Given the description of an element on the screen output the (x, y) to click on. 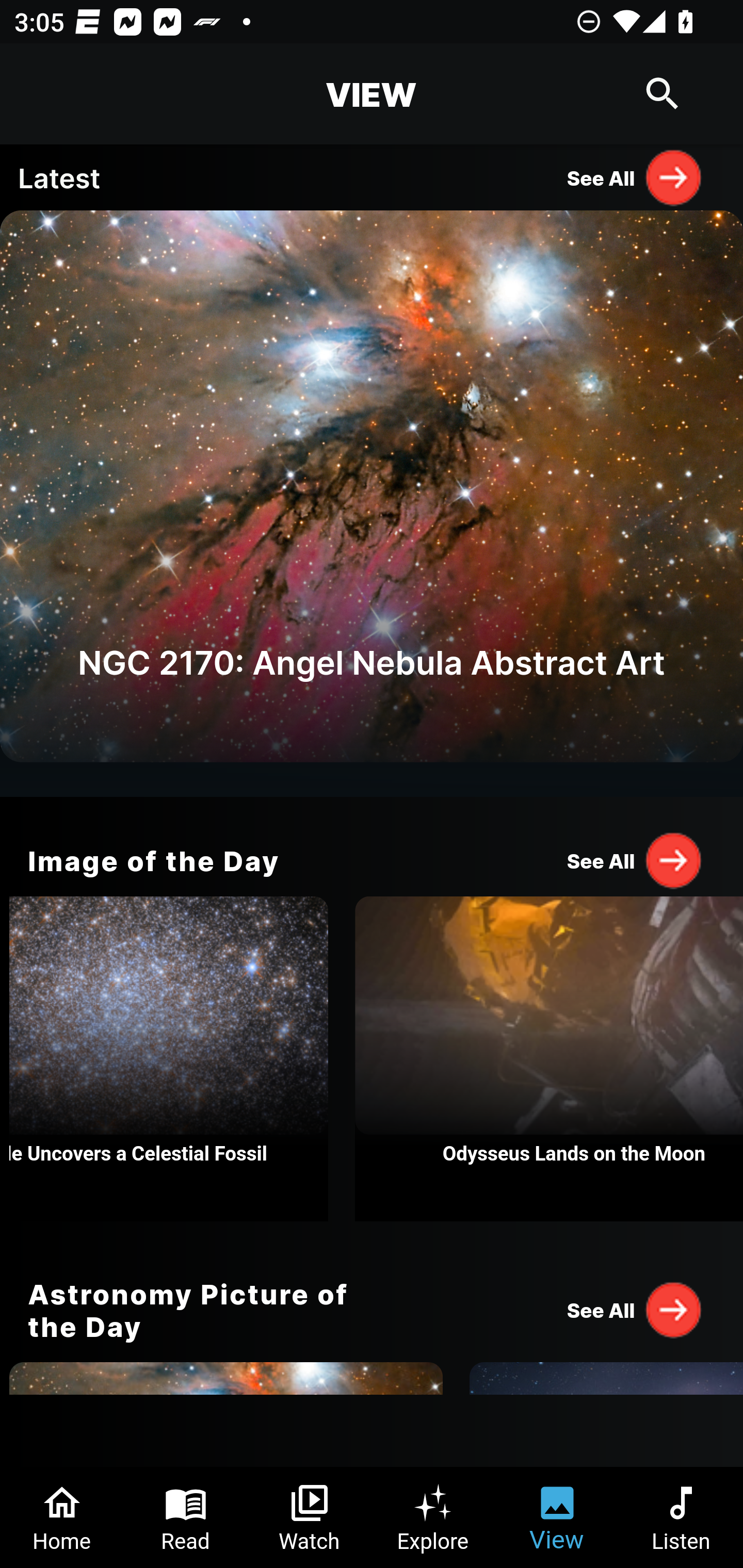
See All (634, 177)
NGC 2170: Angel Nebula Abstract Art
Hello World (371, 503)
See All (634, 860)
Hubble Uncovers a Celestial Fossil (168, 1058)
Odysseus Lands on the Moon (549, 1058)
See All (634, 1309)
Home
Tab 1 of 6 (62, 1517)
Read
Tab 2 of 6 (185, 1517)
Watch
Tab 3 of 6 (309, 1517)
Explore
Tab 4 of 6 (433, 1517)
View
Tab 5 of 6 (556, 1517)
Listen
Tab 6 of 6 (680, 1517)
